Given the description of an element on the screen output the (x, y) to click on. 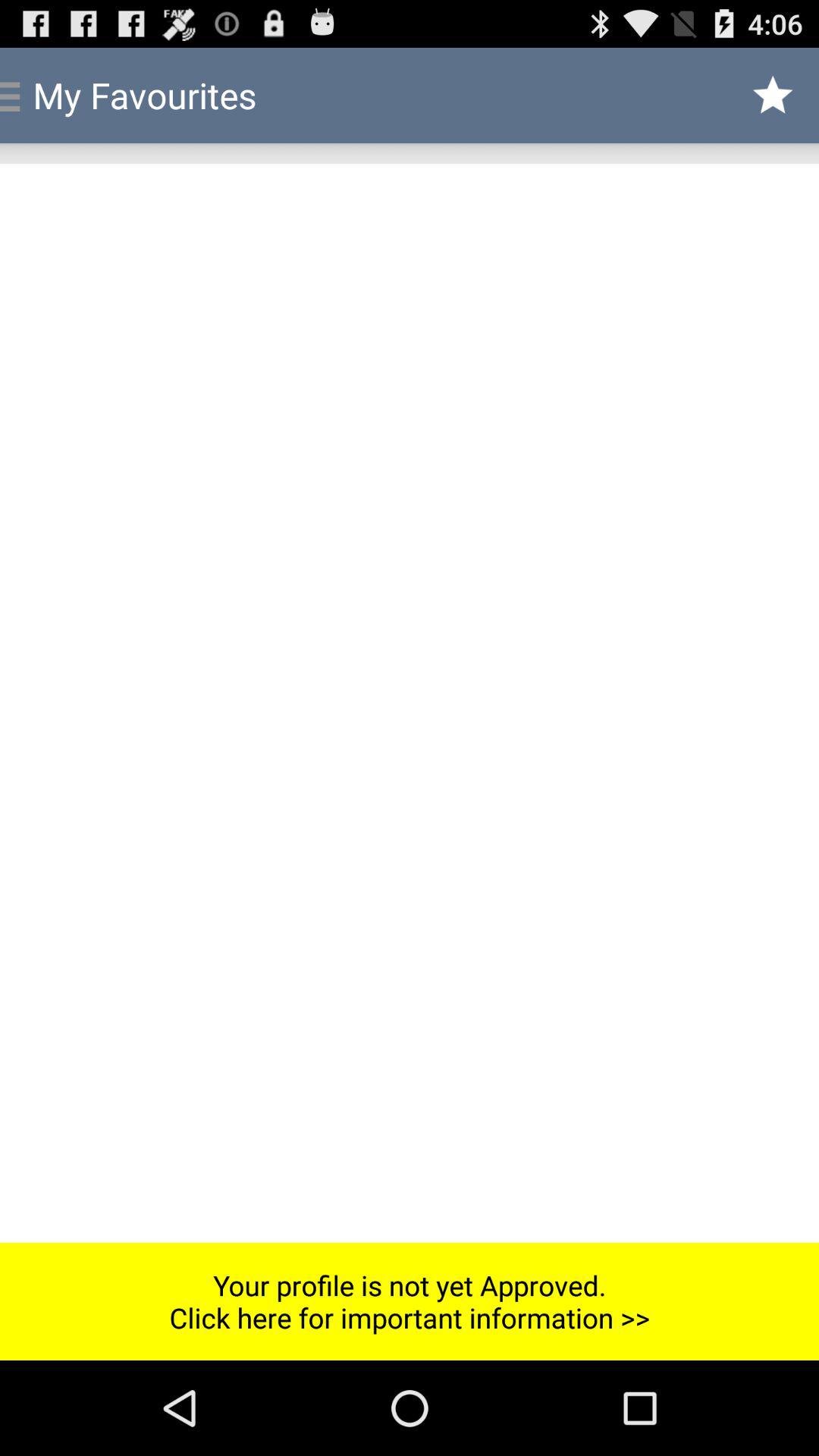
launch icon at the center (409, 702)
